Given the description of an element on the screen output the (x, y) to click on. 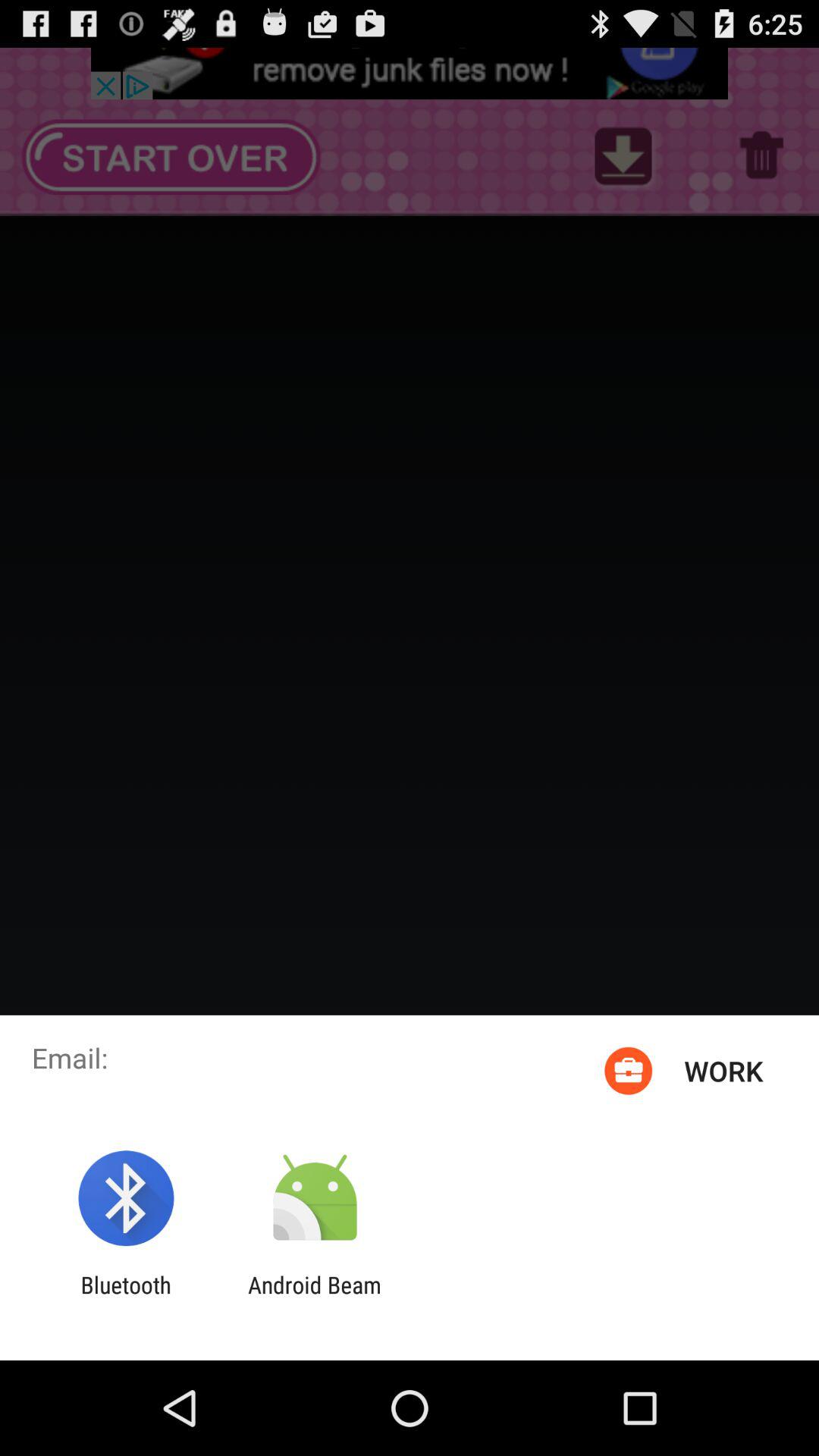
scroll to the bluetooth (125, 1298)
